Given the description of an element on the screen output the (x, y) to click on. 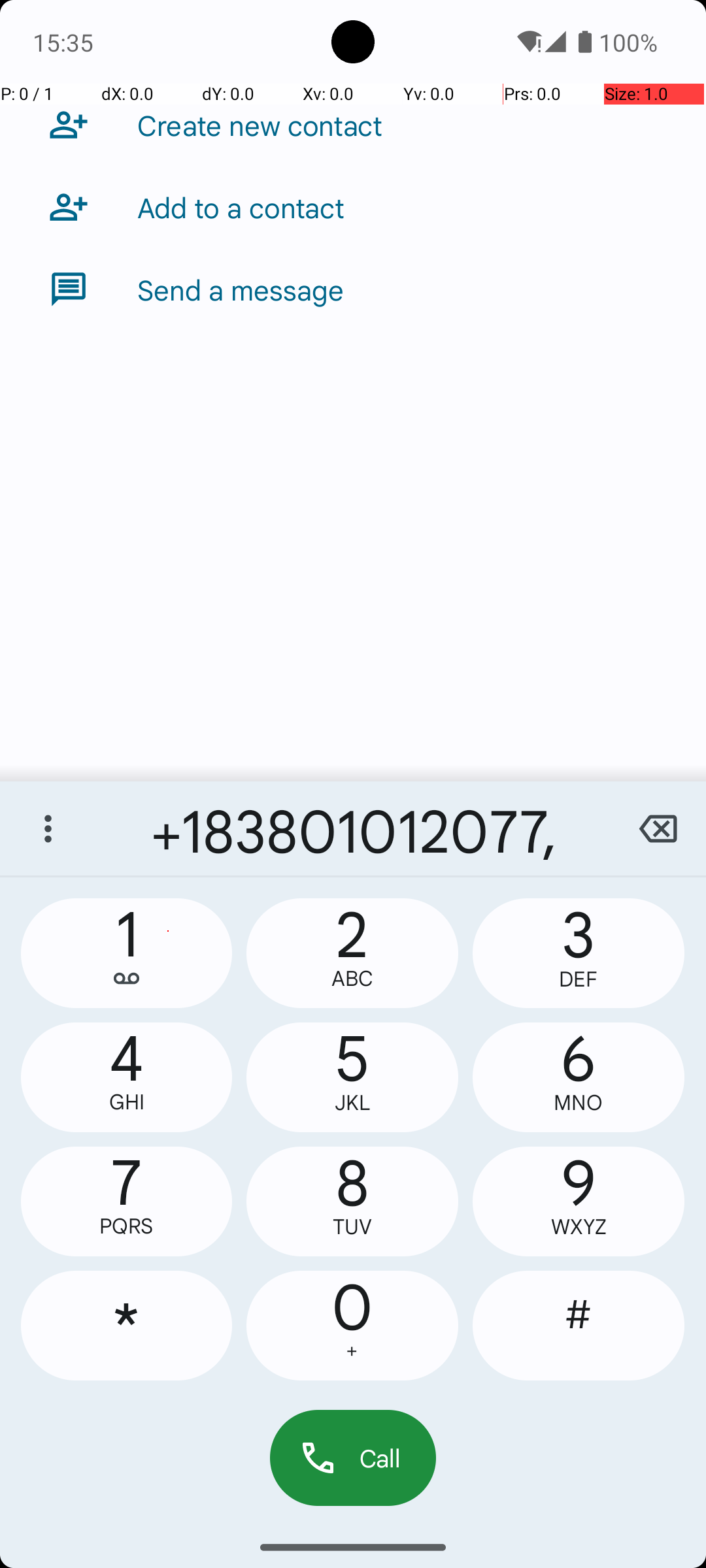
+183801012077, Element type: android.widget.EditText (352, 828)
Add to a contact Element type: android.widget.TextView (240, 206)
Send a message Element type: android.widget.TextView (240, 289)
